Given the description of an element on the screen output the (x, y) to click on. 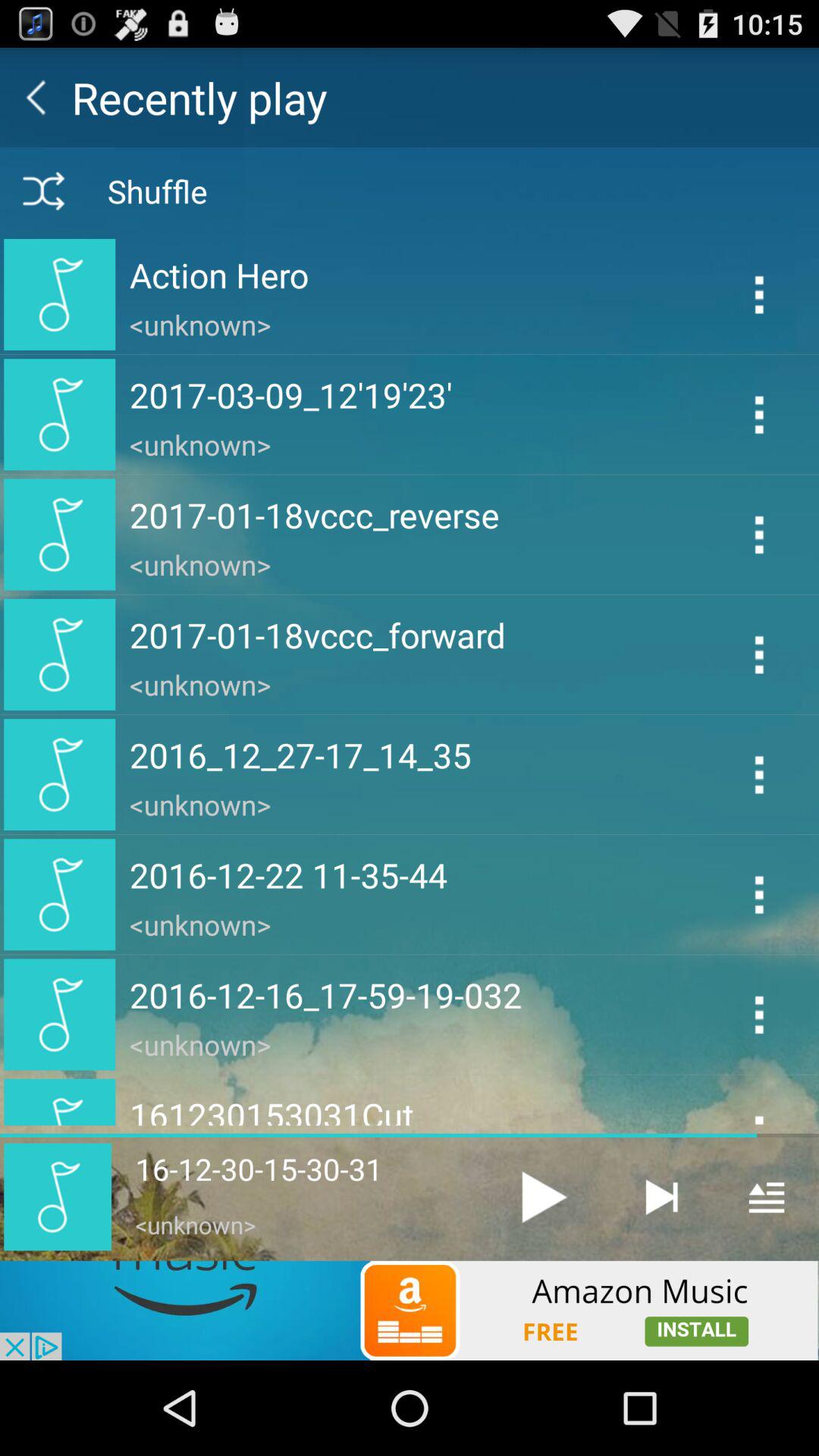
show playlist (766, 1197)
